Given the description of an element on the screen output the (x, y) to click on. 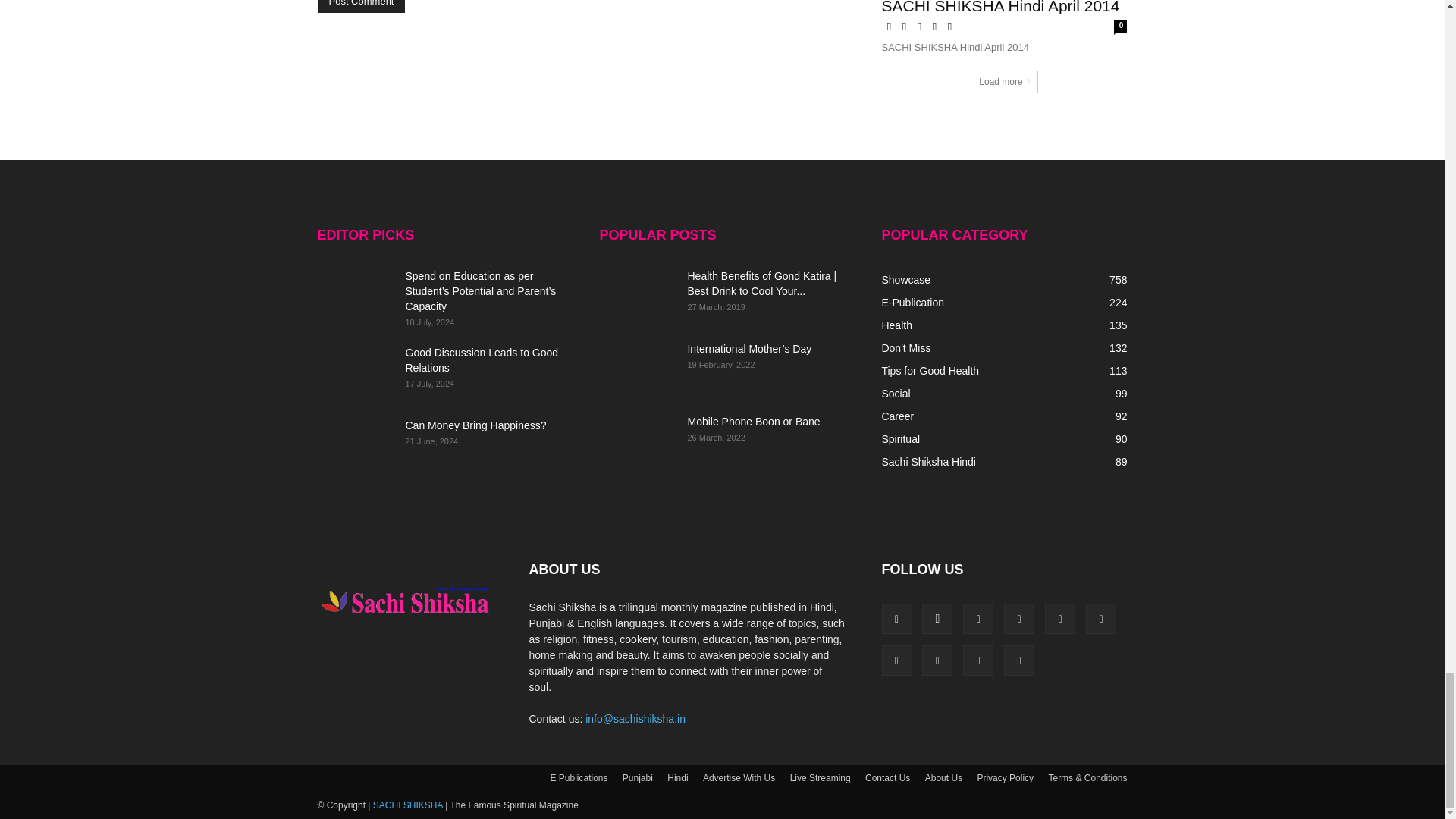
Post Comment (360, 6)
